Given the description of an element on the screen output the (x, y) to click on. 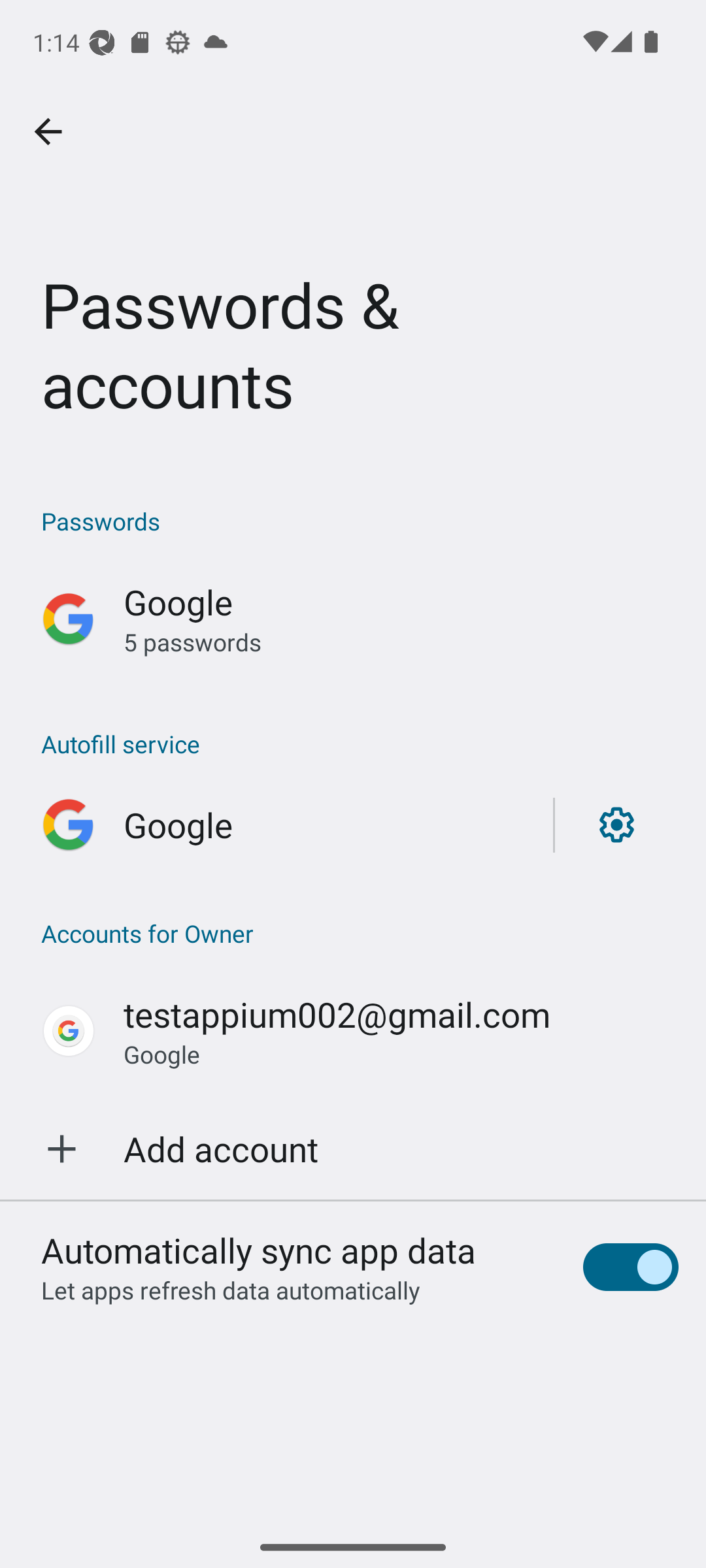
Navigate up (48, 131)
Google 5 passwords (353, 618)
Google Settings (353, 824)
Settings (616, 824)
testappium002@gmail.com Google (353, 1030)
Add account (353, 1148)
